Given the description of an element on the screen output the (x, y) to click on. 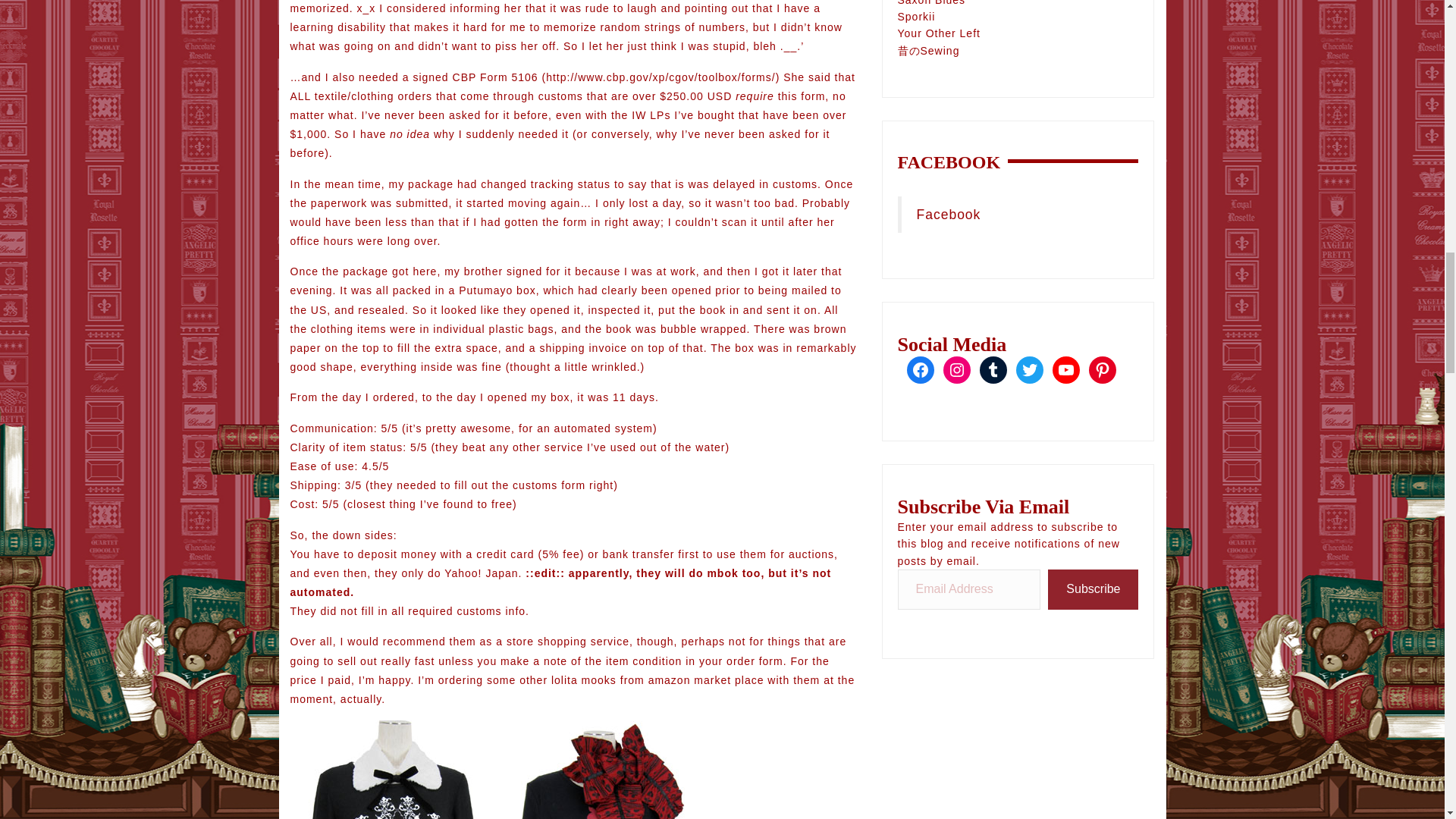
Historical Costuming, Crafts and Lolita Fashion (928, 50)
15240011bkrd (597, 769)
14240031bkwh (392, 769)
Please fill in this field. (969, 589)
